Given the description of an element on the screen output the (x, y) to click on. 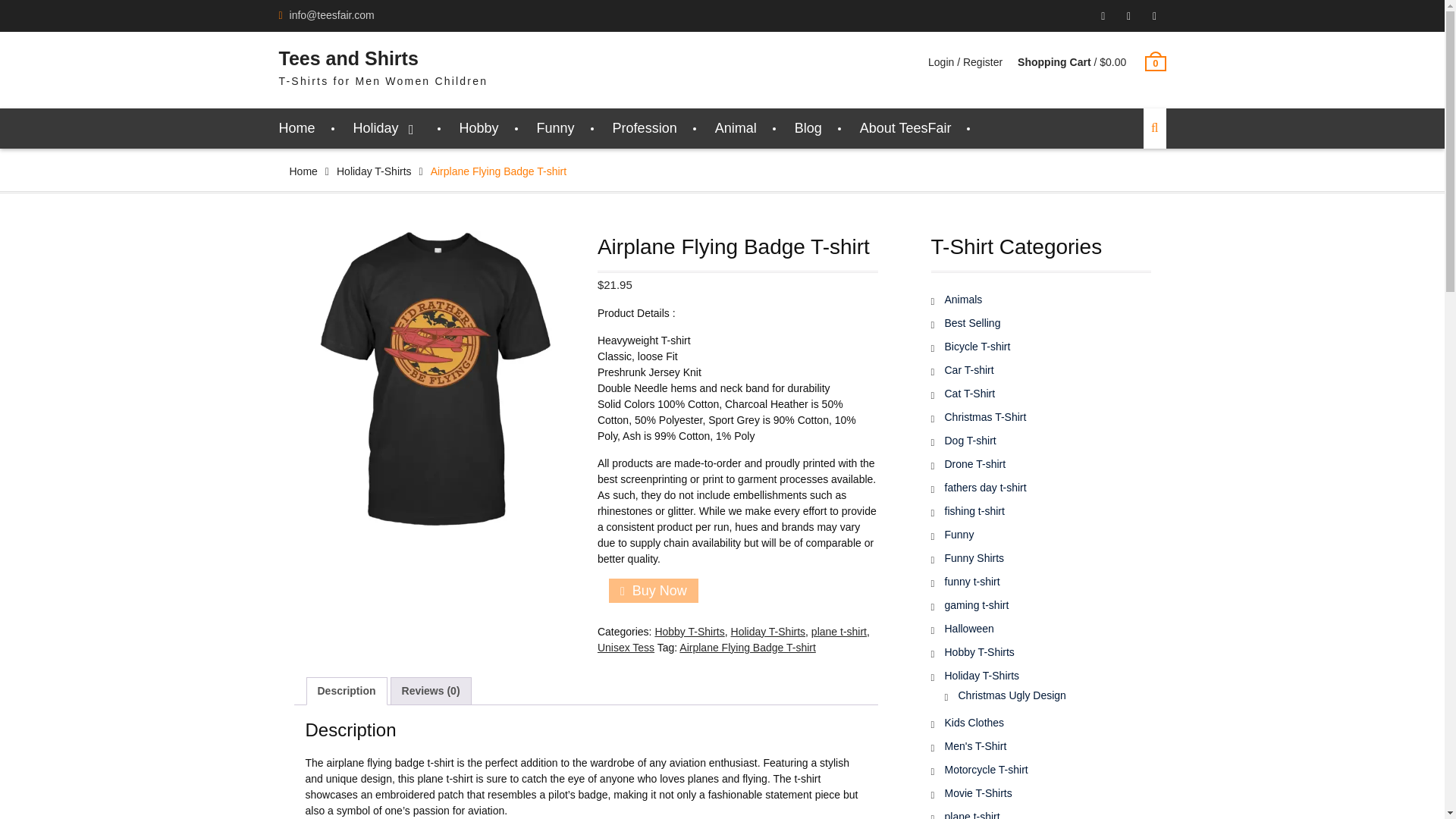
Airplane Flying Badge T-shirt (747, 647)
Twitter (1154, 15)
About TeesFair (906, 128)
Home (303, 171)
Facebook (1129, 15)
Animal (735, 128)
Funny (556, 128)
Unisex Tess (624, 647)
Profession (644, 128)
Home (297, 128)
Airplane Flying Badge T-shirt (434, 378)
Buy Now (653, 590)
Holiday T-Shirts (768, 631)
Tees and Shirts (349, 57)
Hobby (479, 128)
